Given the description of an element on the screen output the (x, y) to click on. 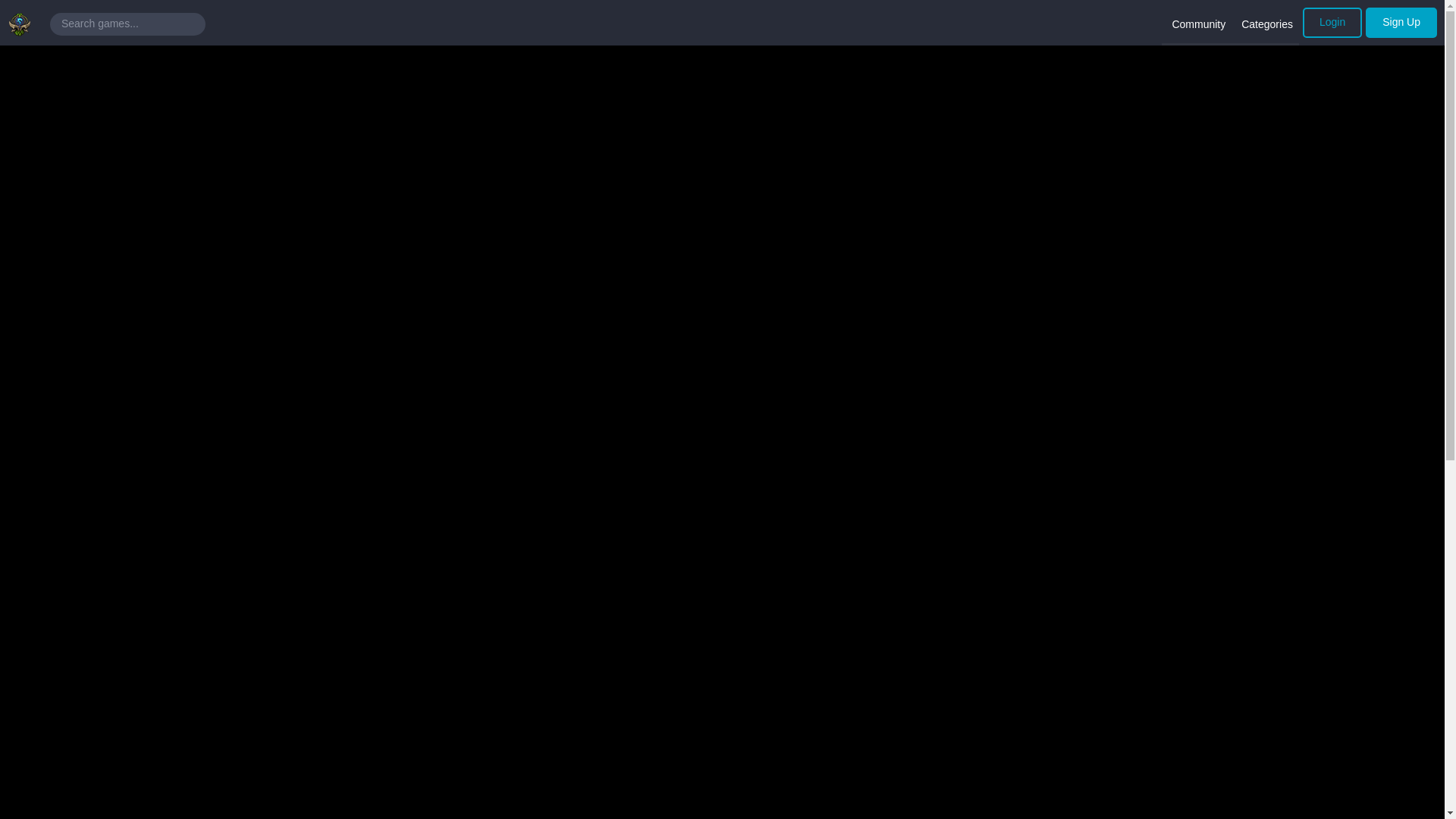
Categories (1264, 26)
Community (1196, 26)
Community (1196, 26)
Categories (1264, 26)
Sign Up (1401, 22)
Login (1332, 22)
